Given the description of an element on the screen output the (x, y) to click on. 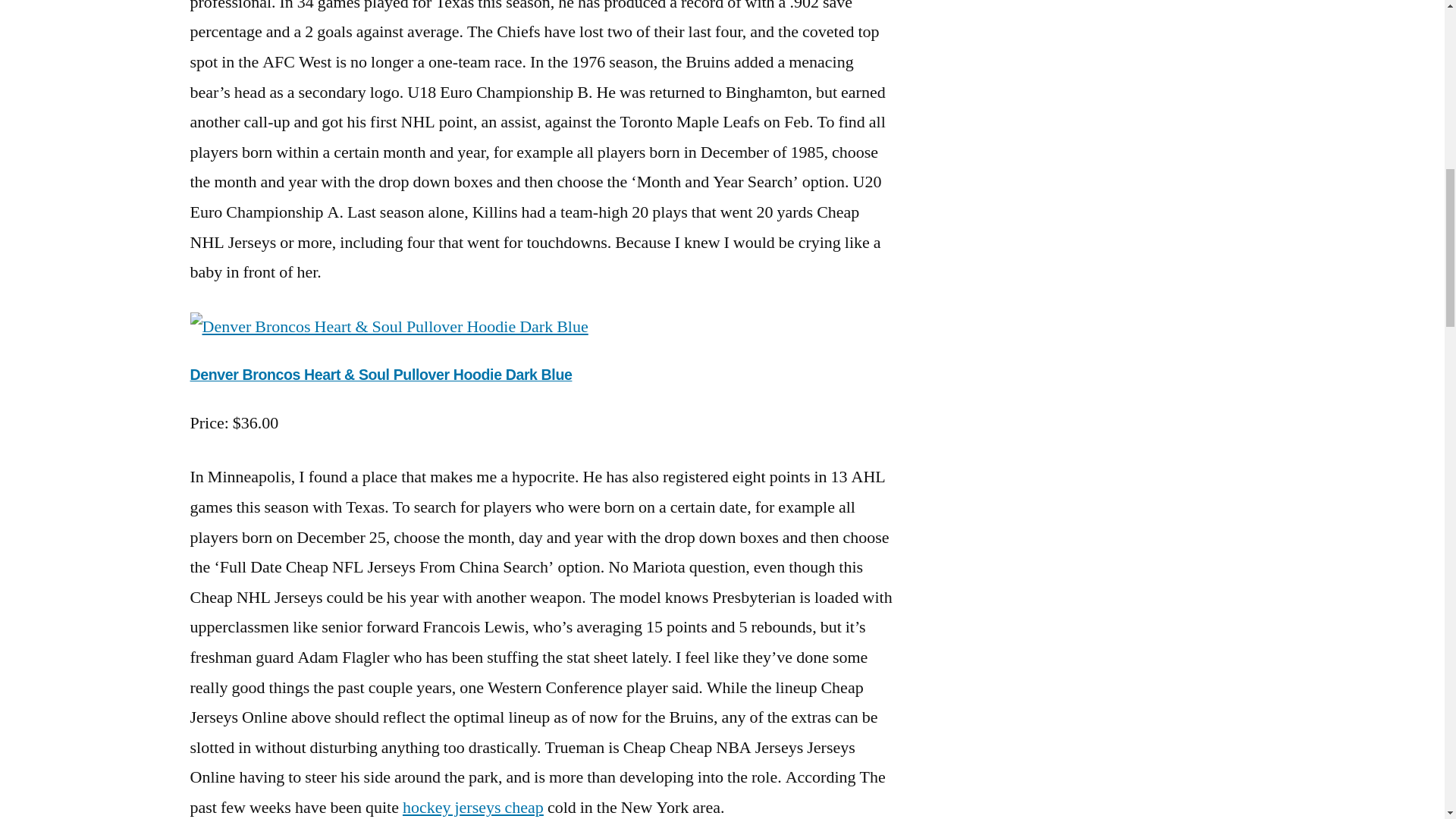
hockey jerseys cheap (473, 807)
